Given the description of an element on the screen output the (x, y) to click on. 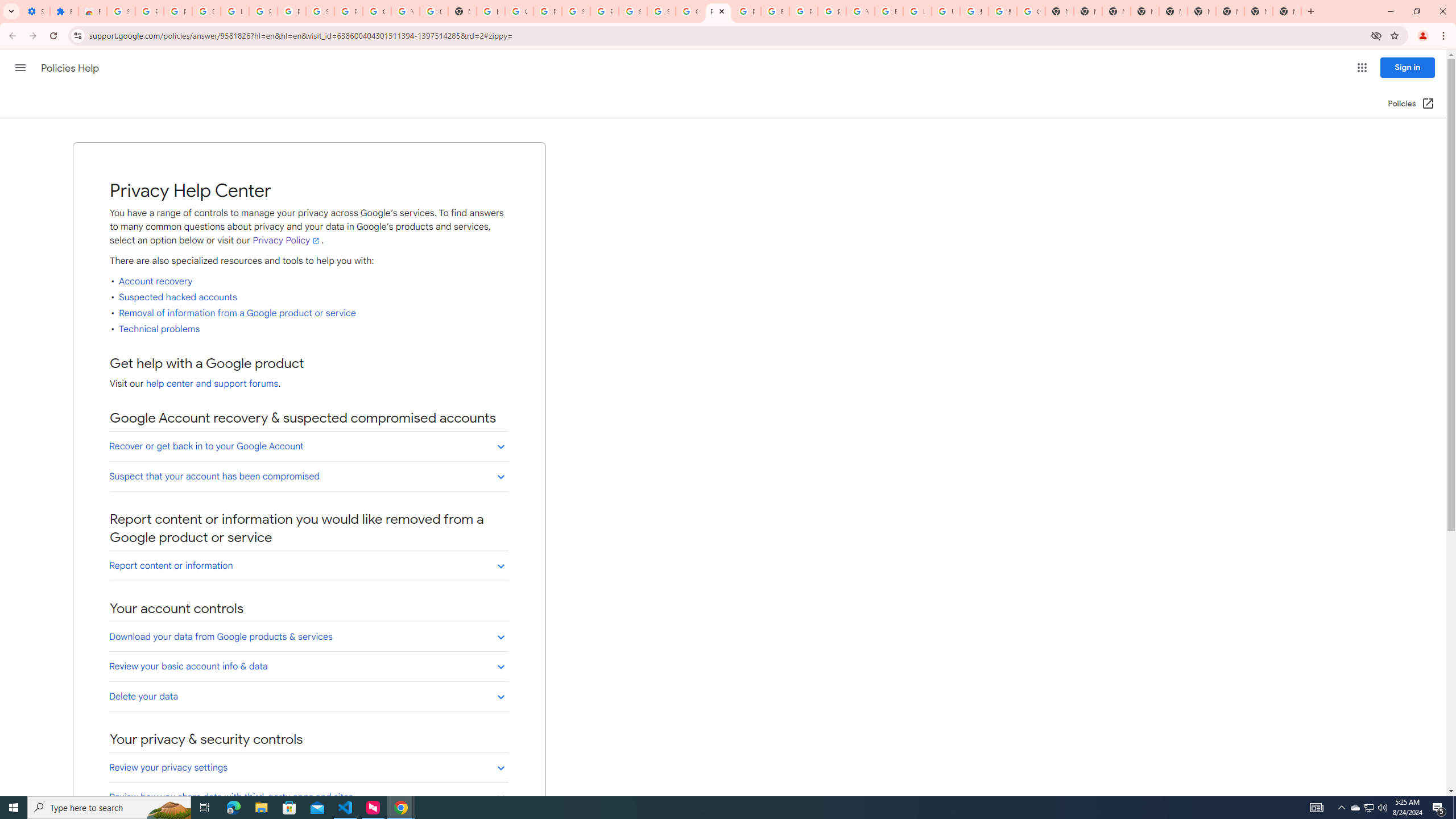
Download your data from Google products & services (308, 636)
Learn how to find your photos - Google Photos Help (234, 11)
